Given the description of an element on the screen output the (x, y) to click on. 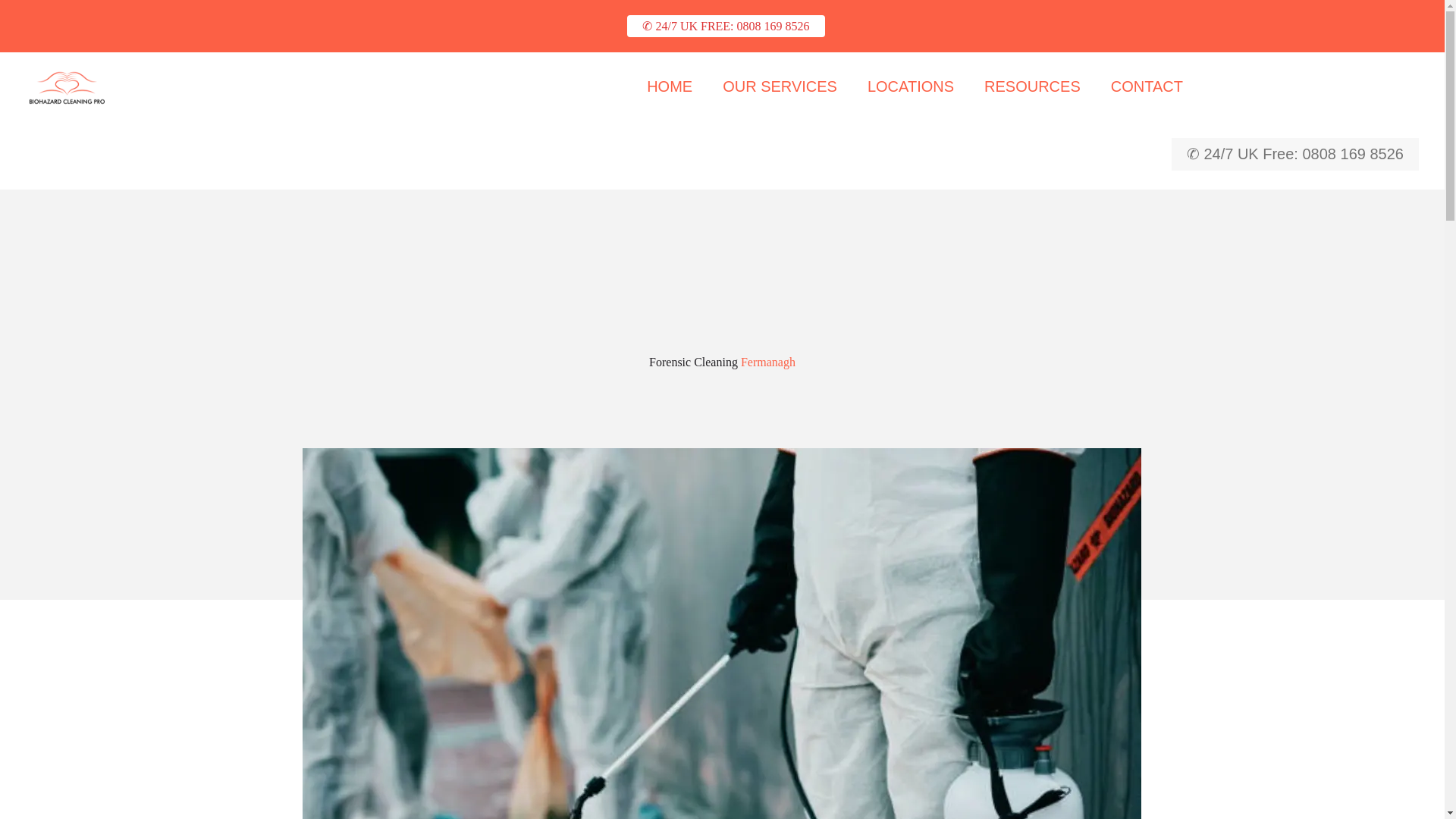
LOCATIONS (910, 86)
HOME (669, 86)
Biohazard Cleaning PRO (66, 86)
OUR SERVICES (779, 86)
CONTACT (1147, 86)
RESOURCES (1032, 86)
